Given the description of an element on the screen output the (x, y) to click on. 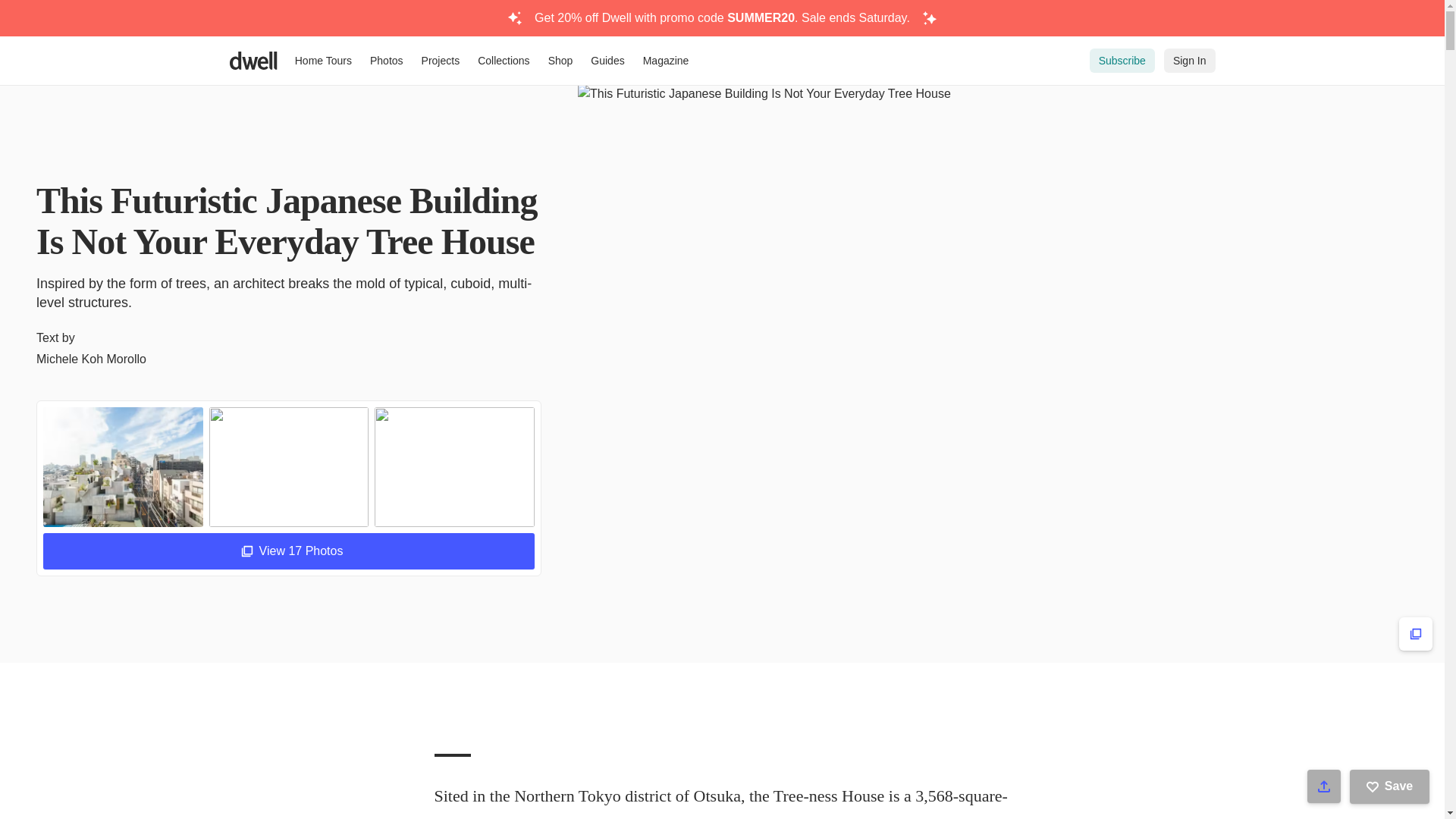
Projects (440, 60)
Collections (503, 60)
Shop (560, 60)
Photos (386, 60)
Home Tours (323, 60)
